Given the description of an element on the screen output the (x, y) to click on. 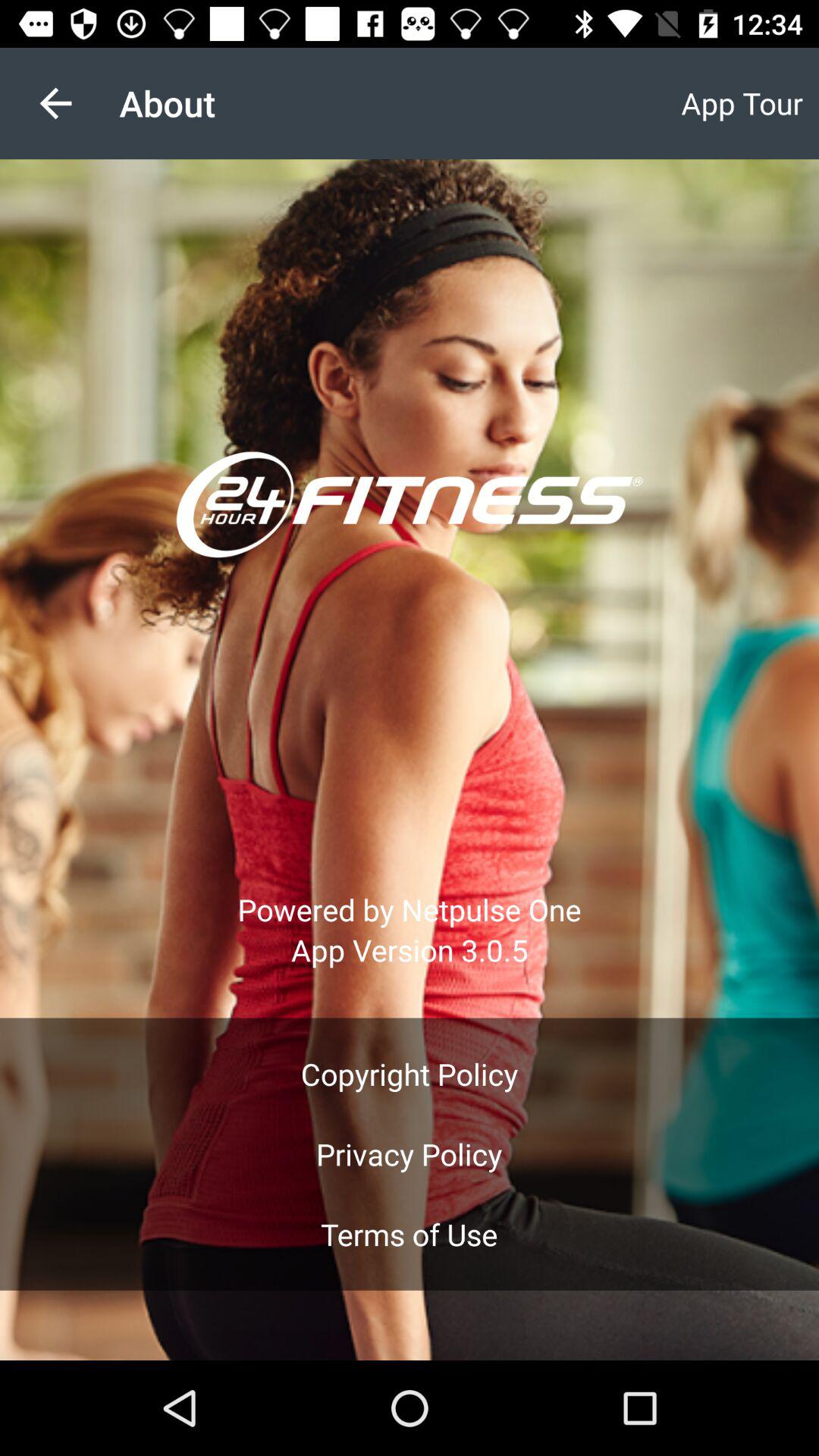
click item below app version 3 (409, 1073)
